Given the description of an element on the screen output the (x, y) to click on. 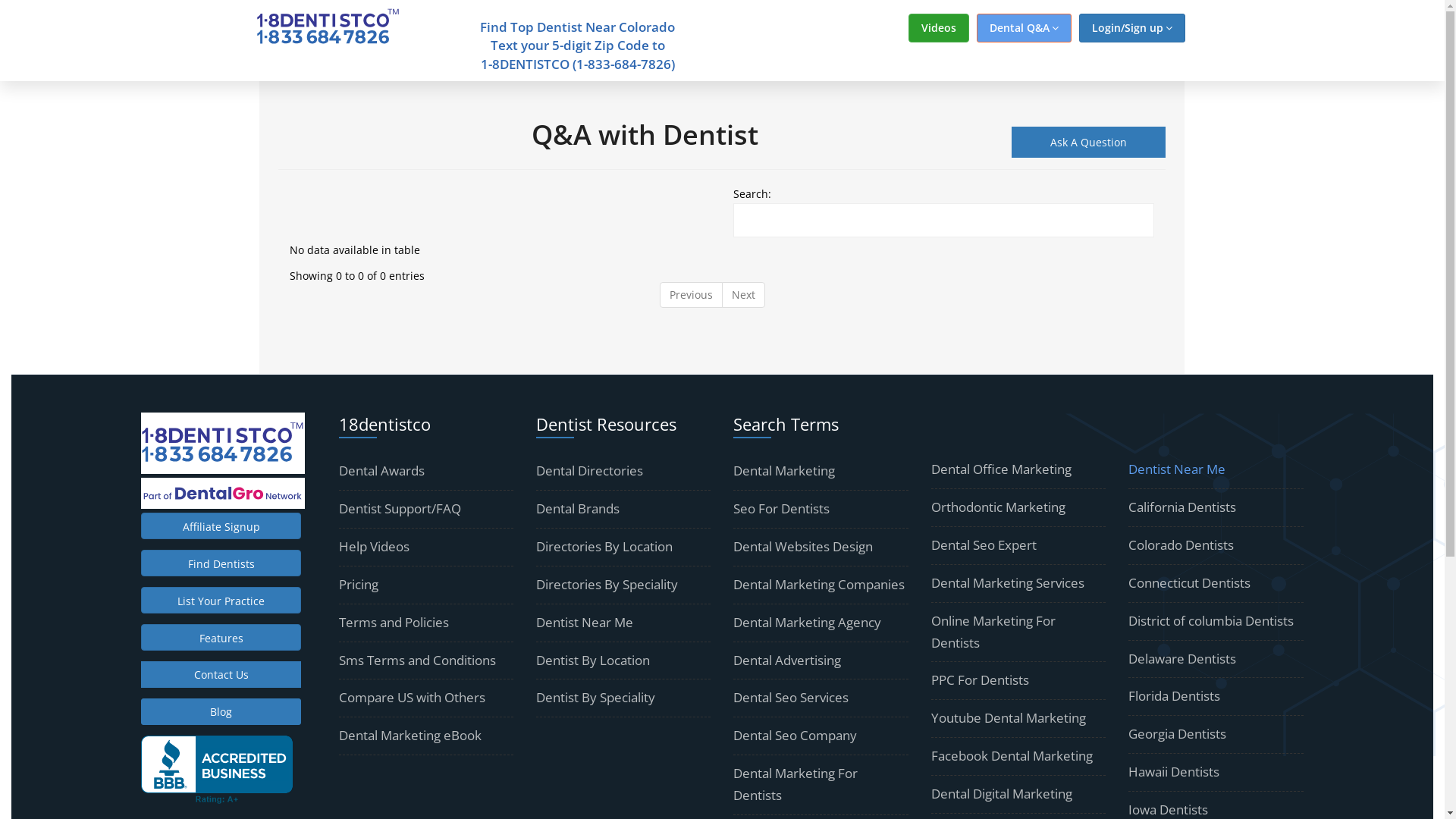
List Your Practice Element type: text (221, 599)
Pricing Element type: text (358, 584)
Directories By Speciality Element type: text (606, 584)
Previous Element type: text (690, 294)
Orthodontic Marketing Element type: text (998, 506)
Facebook Dental Marketing Element type: text (1011, 755)
Dentist By Speciality Element type: text (595, 697)
Dental Directories Element type: text (589, 470)
Affiliate Signup Element type: text (221, 525)
18Dentistry BBA Element type: hover (216, 769)
Dental Seo Expert Element type: text (983, 544)
Dental Advertising Element type: text (786, 659)
District of columbia Dentists Element type: text (1210, 620)
Login/Sign up Element type: text (1131, 27)
Dental Marketing For Dentists Element type: text (795, 783)
Online Marketing For Dentists Element type: text (993, 631)
Videos Element type: text (938, 27)
Dental Marketing Agency Element type: text (807, 621)
Iowa Dentists Element type: text (1168, 809)
Find Dentists Element type: text (221, 562)
Ask A Question Element type: text (1088, 141)
Blog Element type: text (221, 711)
Colorado Dentists Element type: text (1180, 544)
Dental Seo Services Element type: text (790, 697)
Dental Q&A Element type: text (1023, 27)
Dental Seo Company Element type: text (794, 734)
Seo For Dentists Element type: text (781, 508)
Youtube Dental Marketing Element type: text (1008, 717)
Dental Brands Element type: text (577, 508)
Dentist By Location Element type: text (592, 659)
Sms Terms and Conditions Element type: text (416, 659)
Contact Us Element type: text (221, 674)
Connecticut Dentists Element type: text (1189, 582)
Compare US with Others Element type: text (411, 697)
Hawaii Dentists Element type: text (1173, 771)
Help Videos Element type: text (373, 546)
Dentist Support/FAQ Element type: text (399, 508)
Dental Digital Marketing Element type: text (1001, 793)
Directories By Location Element type: text (604, 546)
Florida Dentists Element type: text (1174, 695)
Dentist Near Me Element type: text (1176, 468)
Dental Marketing eBook Element type: text (409, 734)
Dental Marketing Services Element type: text (1007, 582)
PPC For Dentists Element type: text (980, 679)
Dental Marketing Companies Element type: text (818, 584)
Dental Websites Design Element type: text (802, 546)
Features Element type: text (221, 637)
Dental Marketing Element type: text (783, 470)
Dental Office Marketing Element type: text (1001, 468)
Next Element type: text (743, 294)
Delaware Dentists Element type: text (1182, 658)
Georgia Dentists Element type: text (1177, 733)
Dentist Near Me Element type: text (584, 621)
Terms and Policies Element type: text (393, 621)
Dental Awards Element type: text (381, 470)
California Dentists Element type: text (1182, 506)
